Given the description of an element on the screen output the (x, y) to click on. 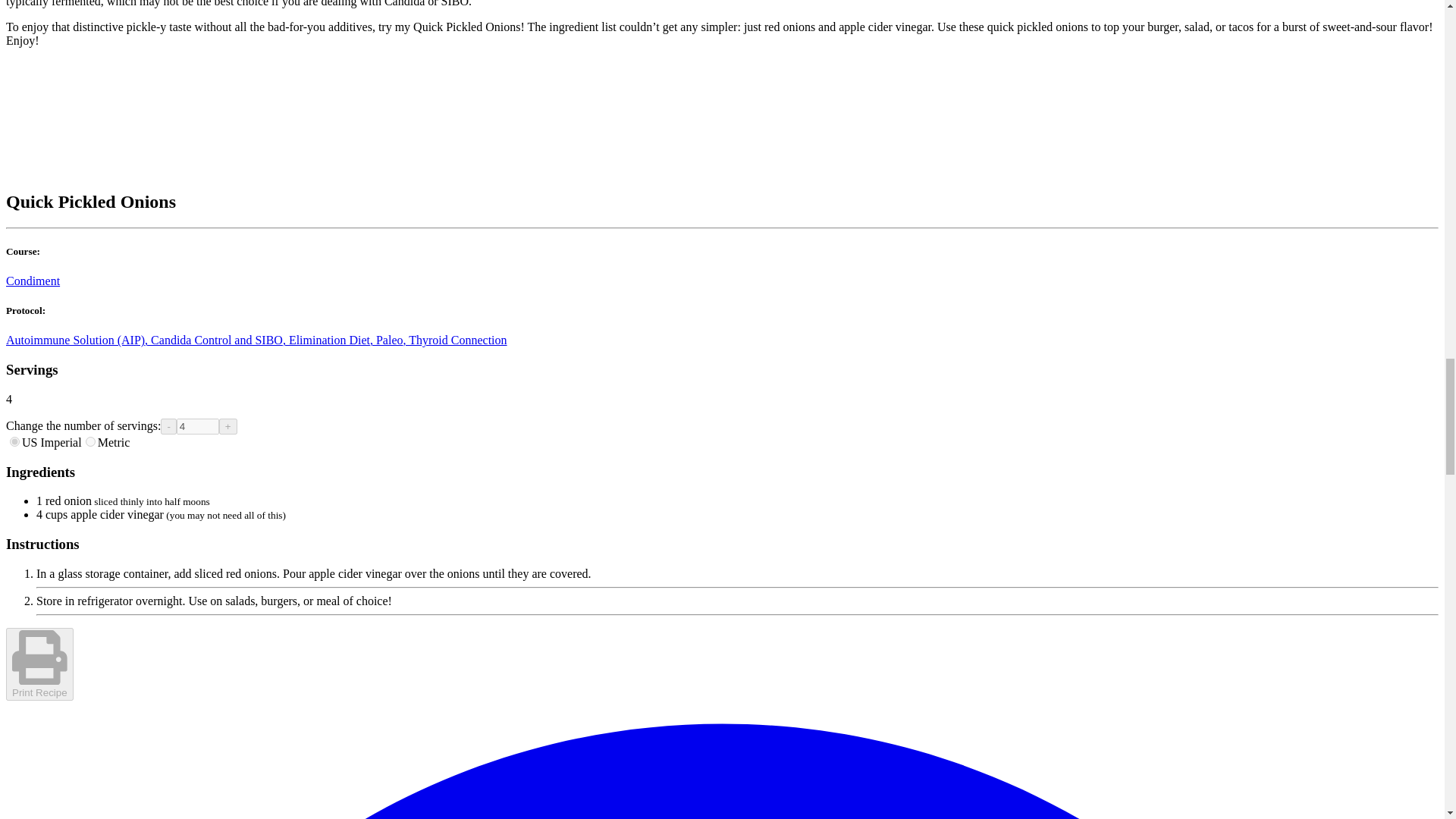
Print Recipe (39, 664)
, Thyroid Connection (454, 339)
Metric (90, 441)
- (168, 426)
, Elimination Diet (325, 339)
US Imperial (15, 441)
, Candida Control and SIBO (213, 339)
4 (197, 426)
Condiment (32, 280)
, Paleo (386, 339)
